Given the description of an element on the screen output the (x, y) to click on. 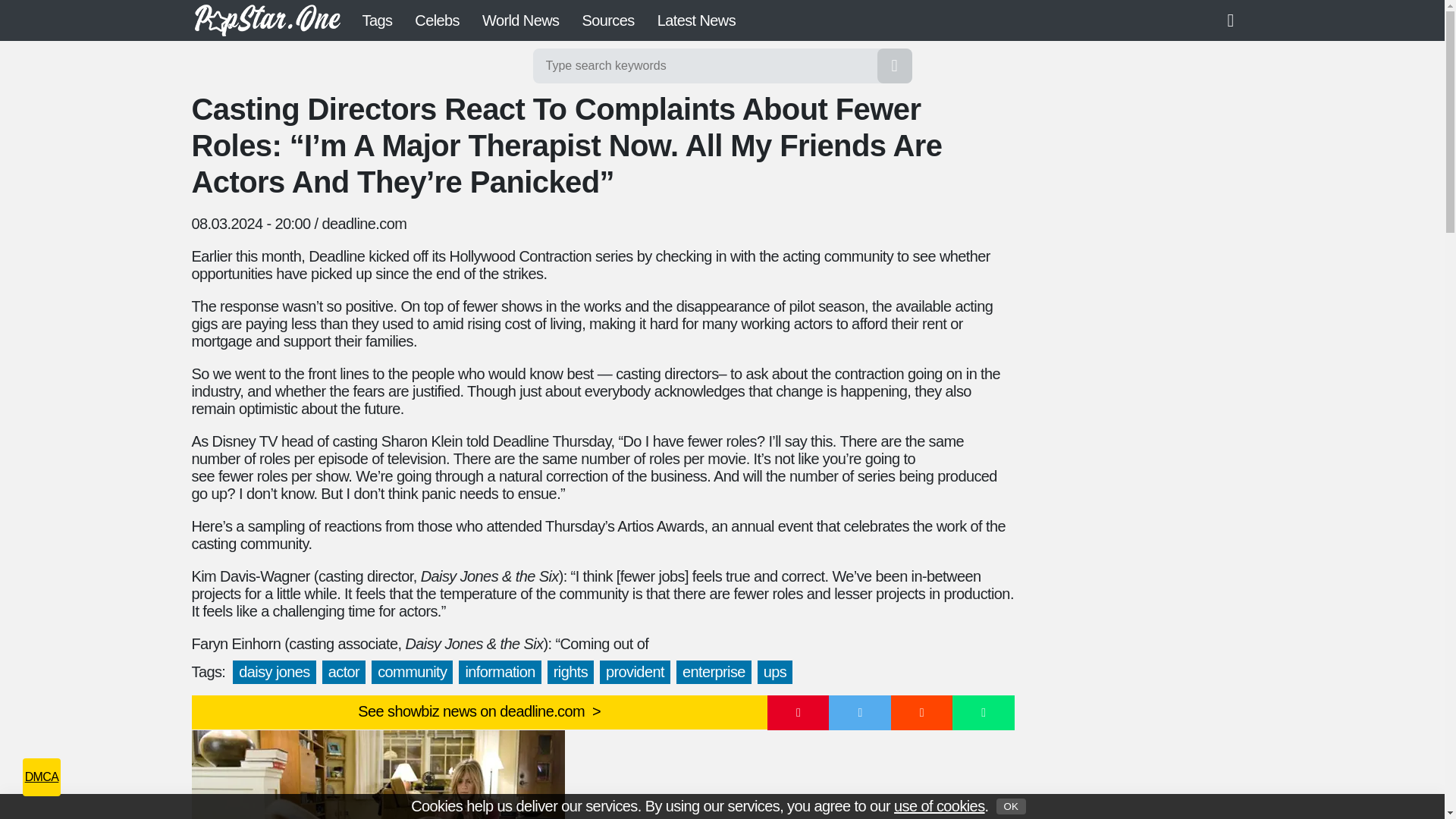
Celebrity news and gossips popstar.one (266, 20)
See showbiz news on deadline.com (478, 712)
Celebs (436, 20)
World News (520, 20)
Sources (607, 20)
Sources (607, 20)
provident (634, 671)
Celebs (436, 20)
Latest News (696, 20)
Latest News (696, 20)
World News (520, 20)
Tags (376, 20)
information (499, 671)
Tags (376, 20)
DARK MODE (1235, 20)
